Given the description of an element on the screen output the (x, y) to click on. 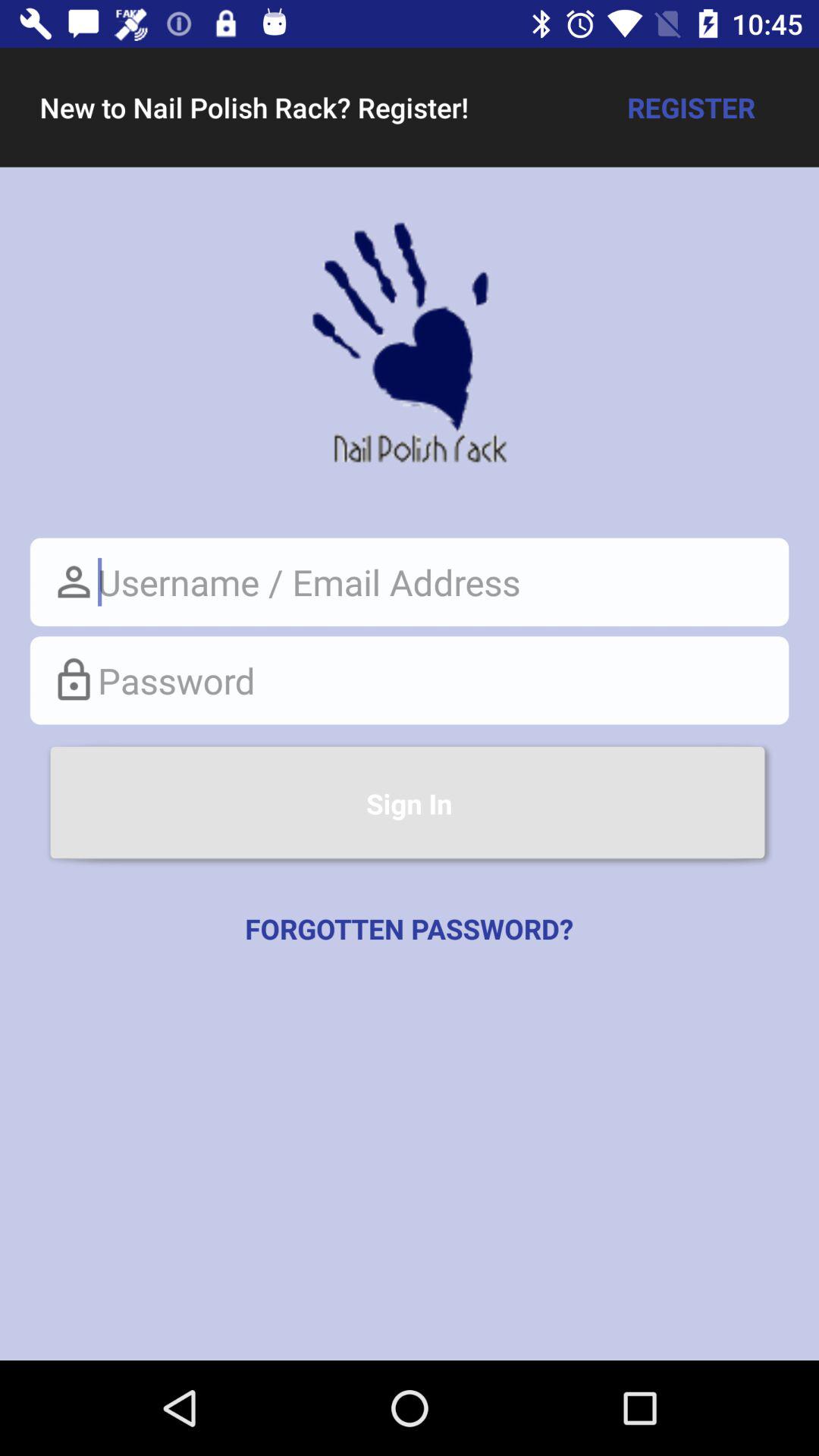
enter your username or email (409, 582)
